Given the description of an element on the screen output the (x, y) to click on. 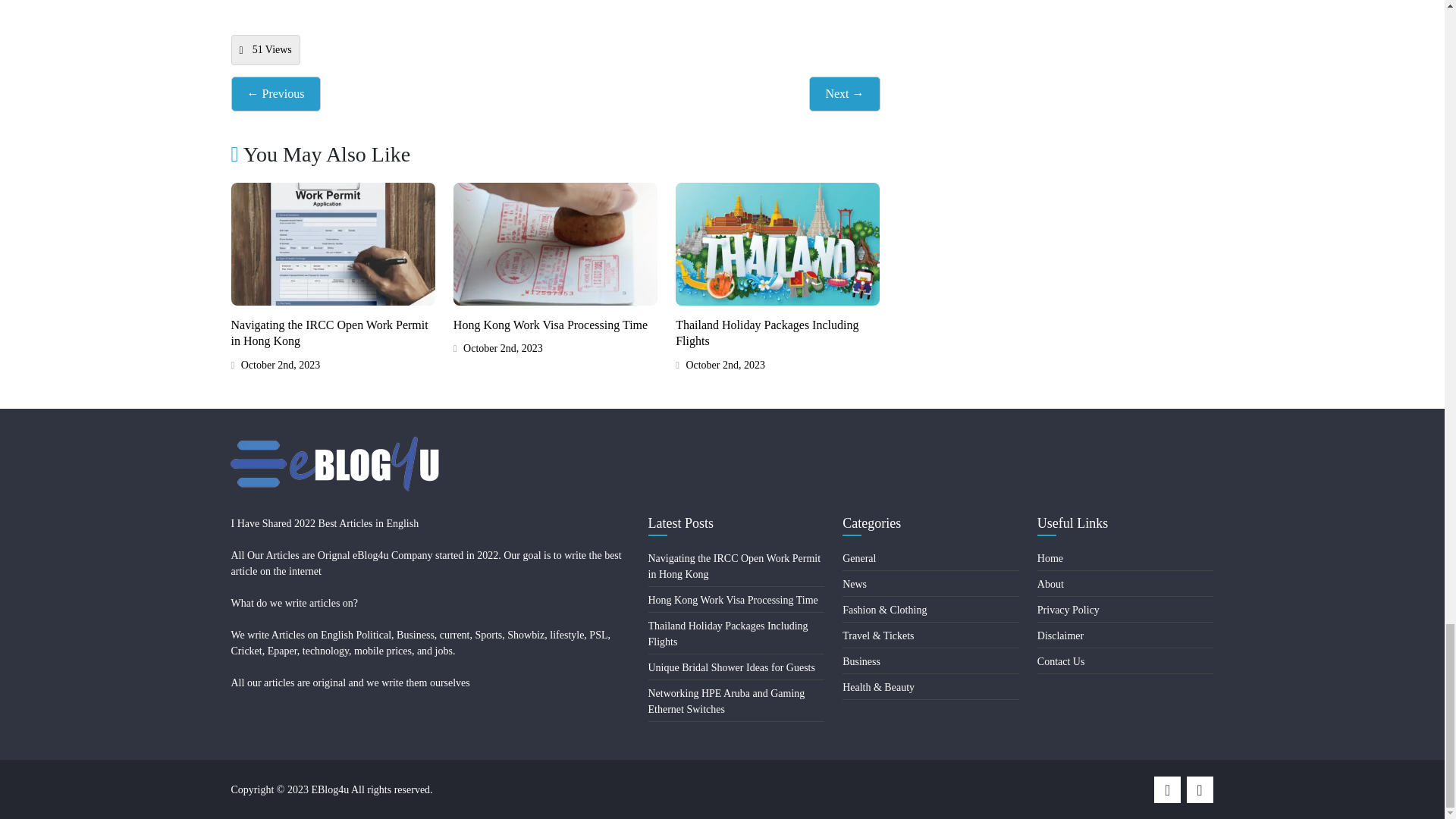
October 2nd, 2023 (275, 365)
October 2nd, 2023 (720, 365)
October 2nd, 2023 (497, 348)
Hong Kong Work Visa Processing Time (549, 324)
Navigating the IRCC Open Work Permit in Hong Kong (329, 333)
Thailand Holiday Packages Including Flights (767, 333)
